Given the description of an element on the screen output the (x, y) to click on. 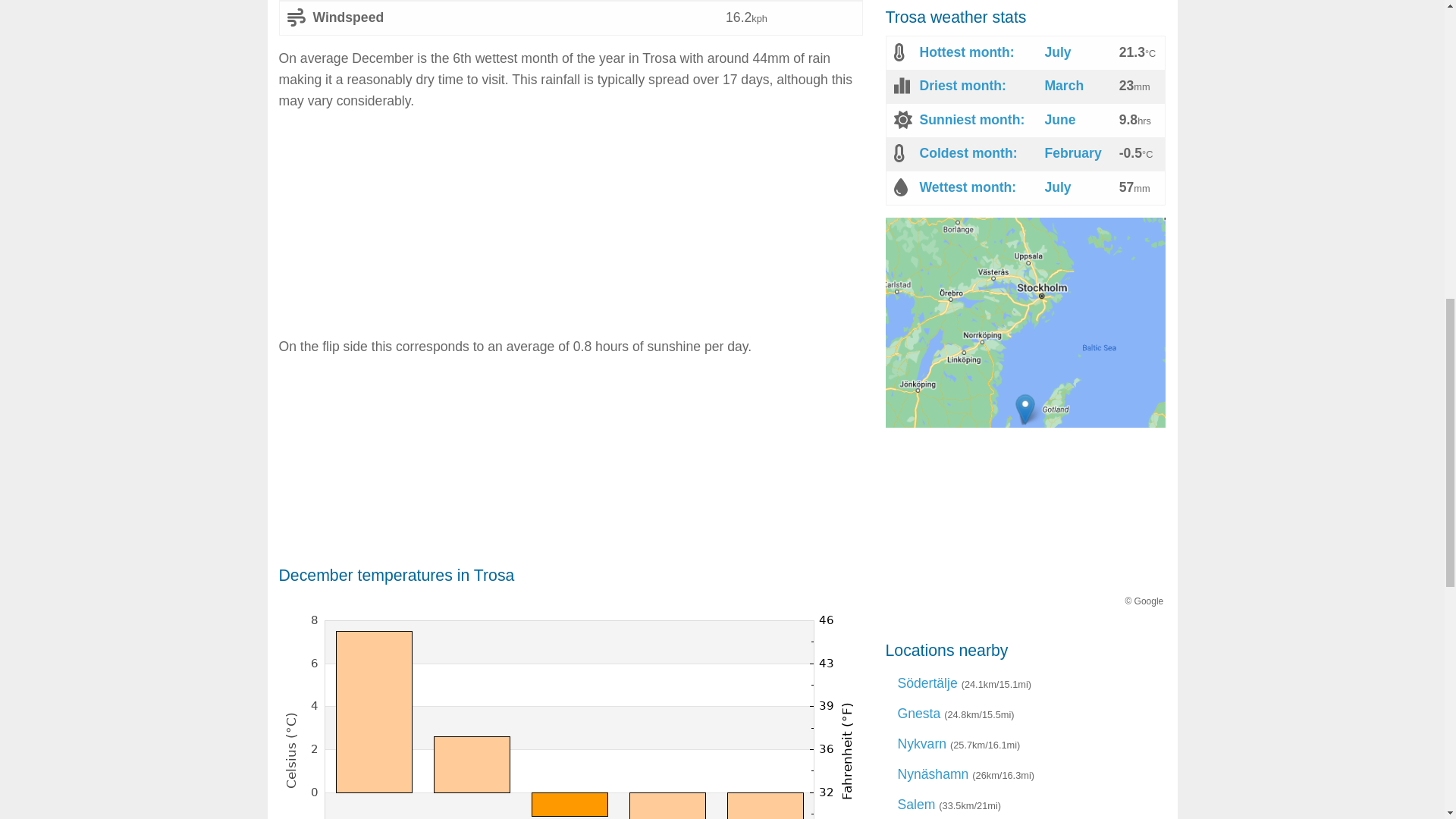
March (1063, 85)
Sunniest month: (971, 119)
Driest month: (962, 85)
Coldest month: (967, 152)
July (1056, 52)
Advertisement (571, 229)
Hottest month: (965, 52)
June (1059, 119)
Advertisement (1025, 533)
